Given the description of an element on the screen output the (x, y) to click on. 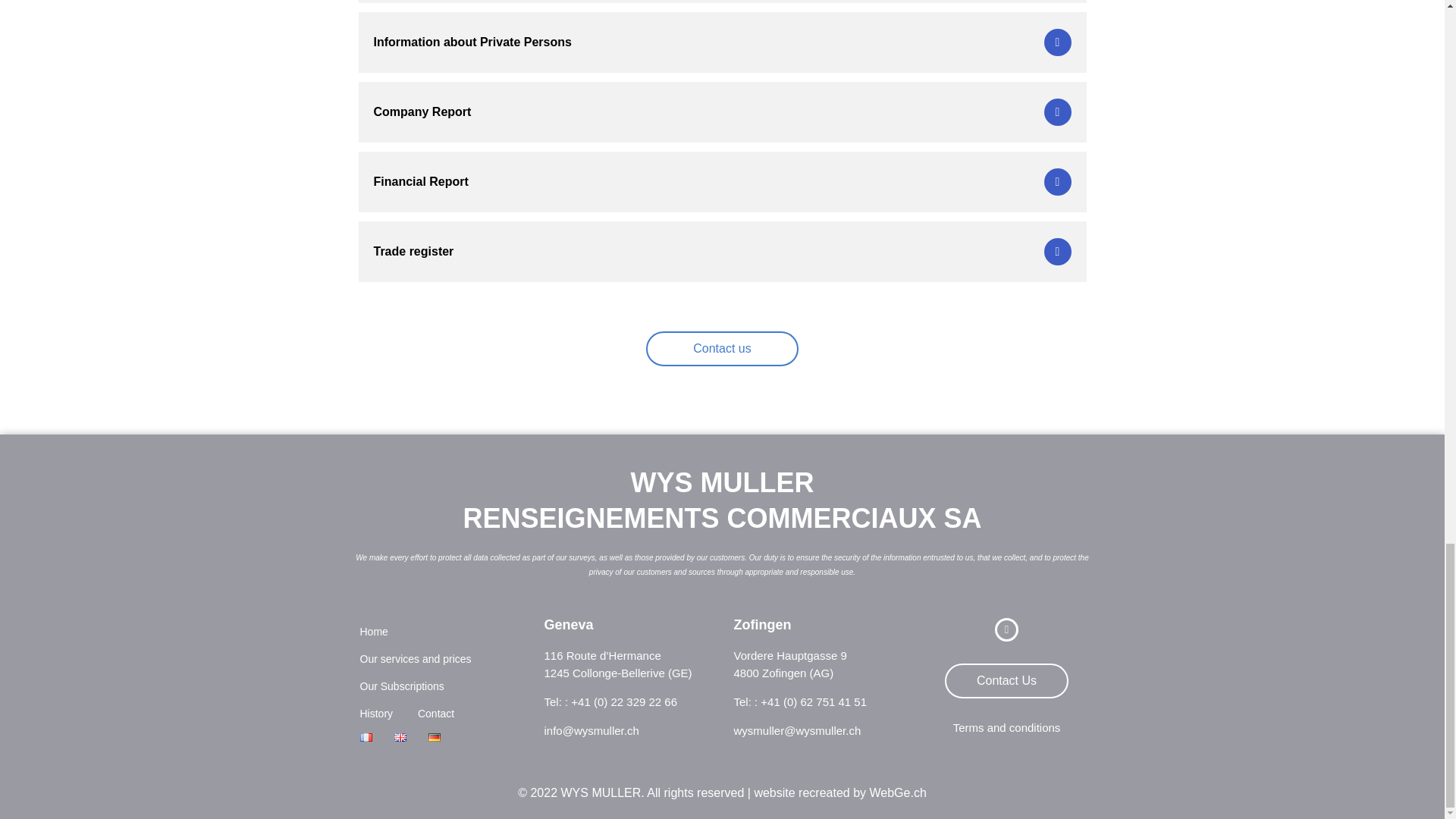
Contact us (721, 348)
Our Subscriptions (402, 686)
History (376, 713)
Our services and prices (416, 658)
Home (374, 631)
 Contact (434, 713)
